Given the description of an element on the screen output the (x, y) to click on. 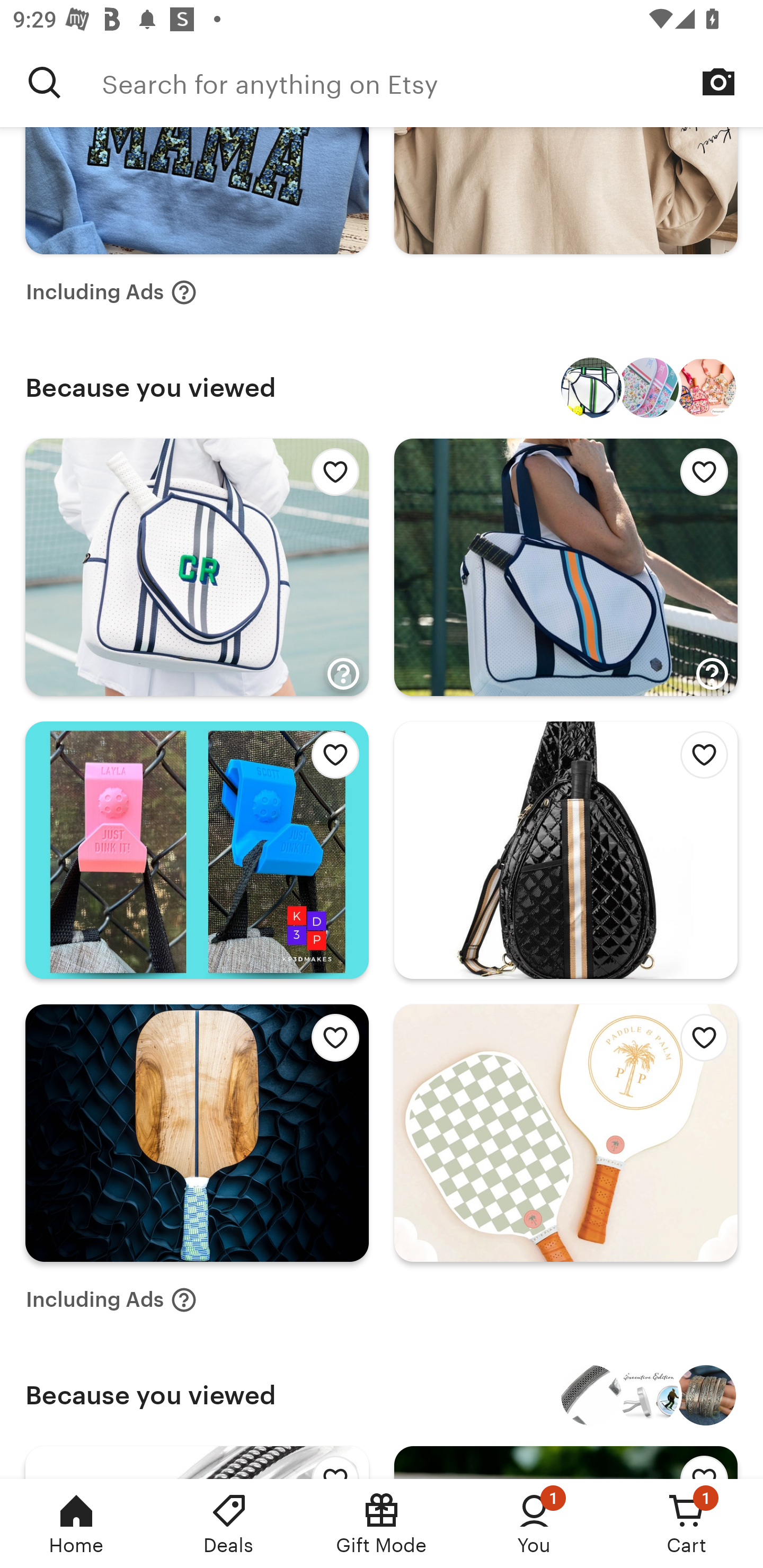
Search for anything on Etsy (44, 82)
Search by image (718, 81)
Search for anything on Etsy (432, 82)
Including Ads (111, 292)
Flower Preppy Pickleball Paddle (648, 387)
Including Ads (111, 1299)
Deals (228, 1523)
Gift Mode (381, 1523)
You, 1 new notification You (533, 1523)
Cart, 1 new notification Cart (686, 1523)
